Given the description of an element on the screen output the (x, y) to click on. 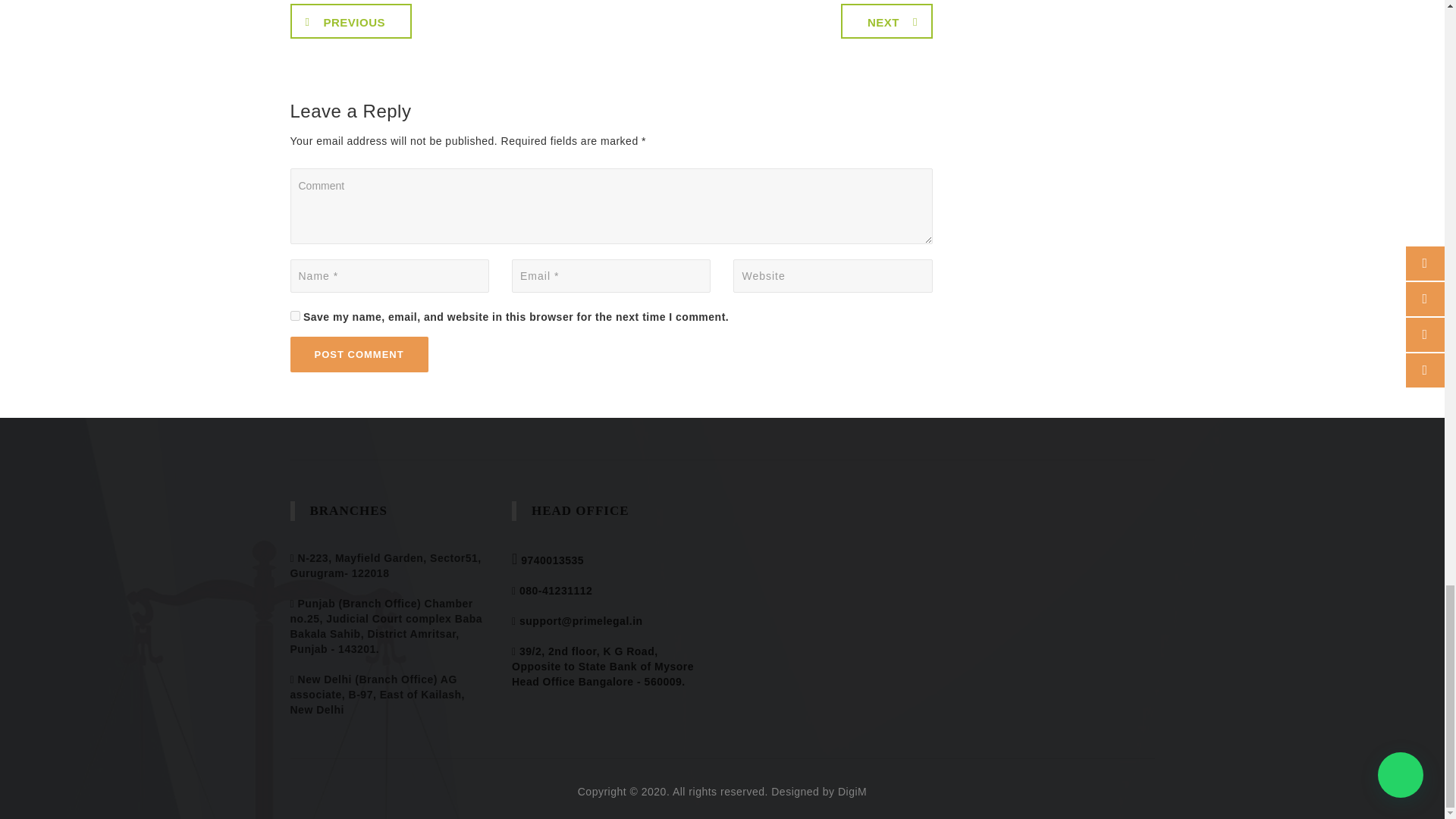
Post Comment (358, 354)
NEXT (887, 21)
PREVIOUS (350, 21)
Post Comment (358, 354)
yes (294, 316)
